Given the description of an element on the screen output the (x, y) to click on. 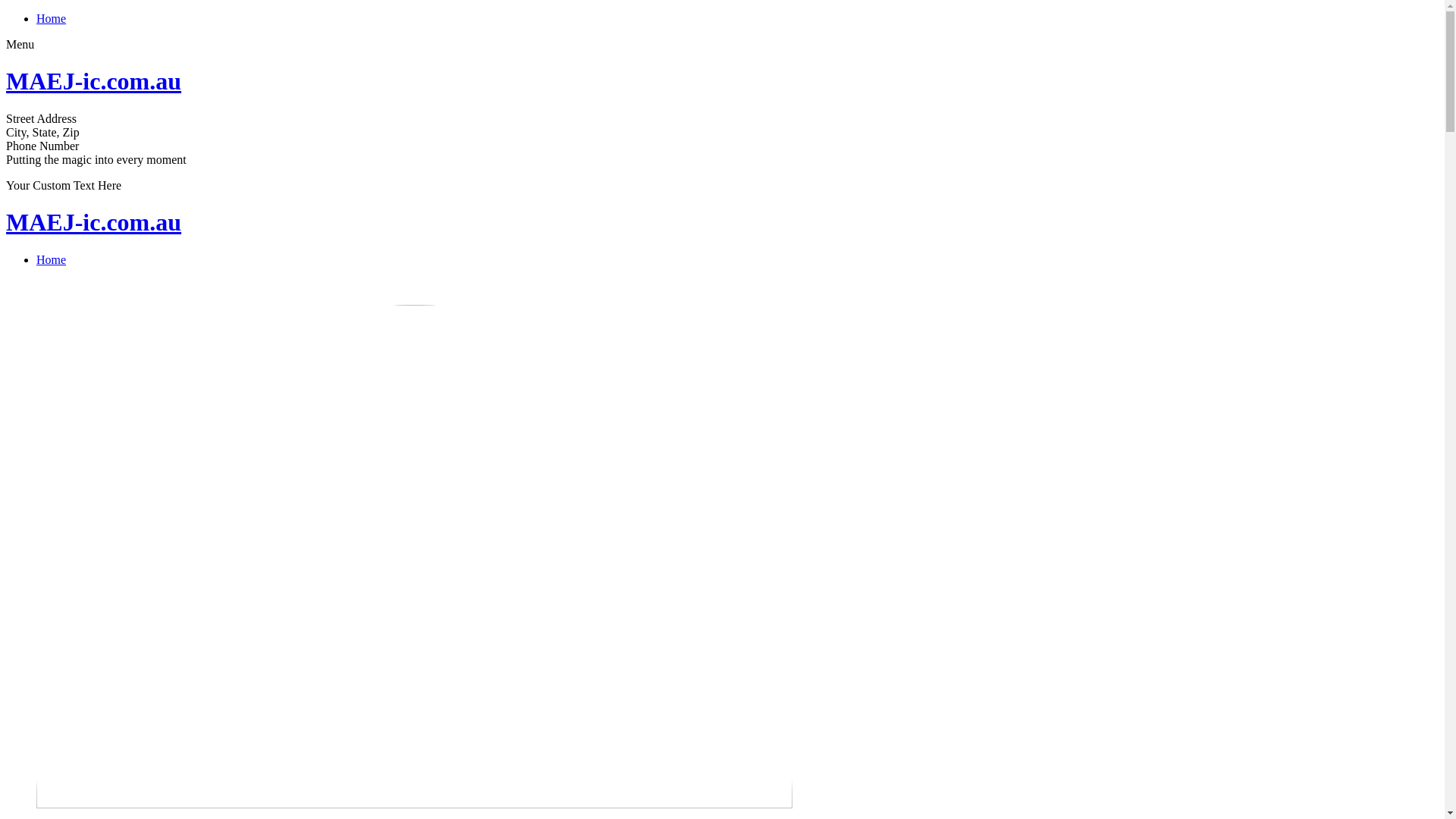
Home Element type: text (50, 259)
MAEJ-ic.com.au Element type: text (93, 80)
MAEJ-ic.com.au Element type: text (93, 221)
Home Element type: text (50, 18)
Menu Element type: text (20, 43)
